Given the description of an element on the screen output the (x, y) to click on. 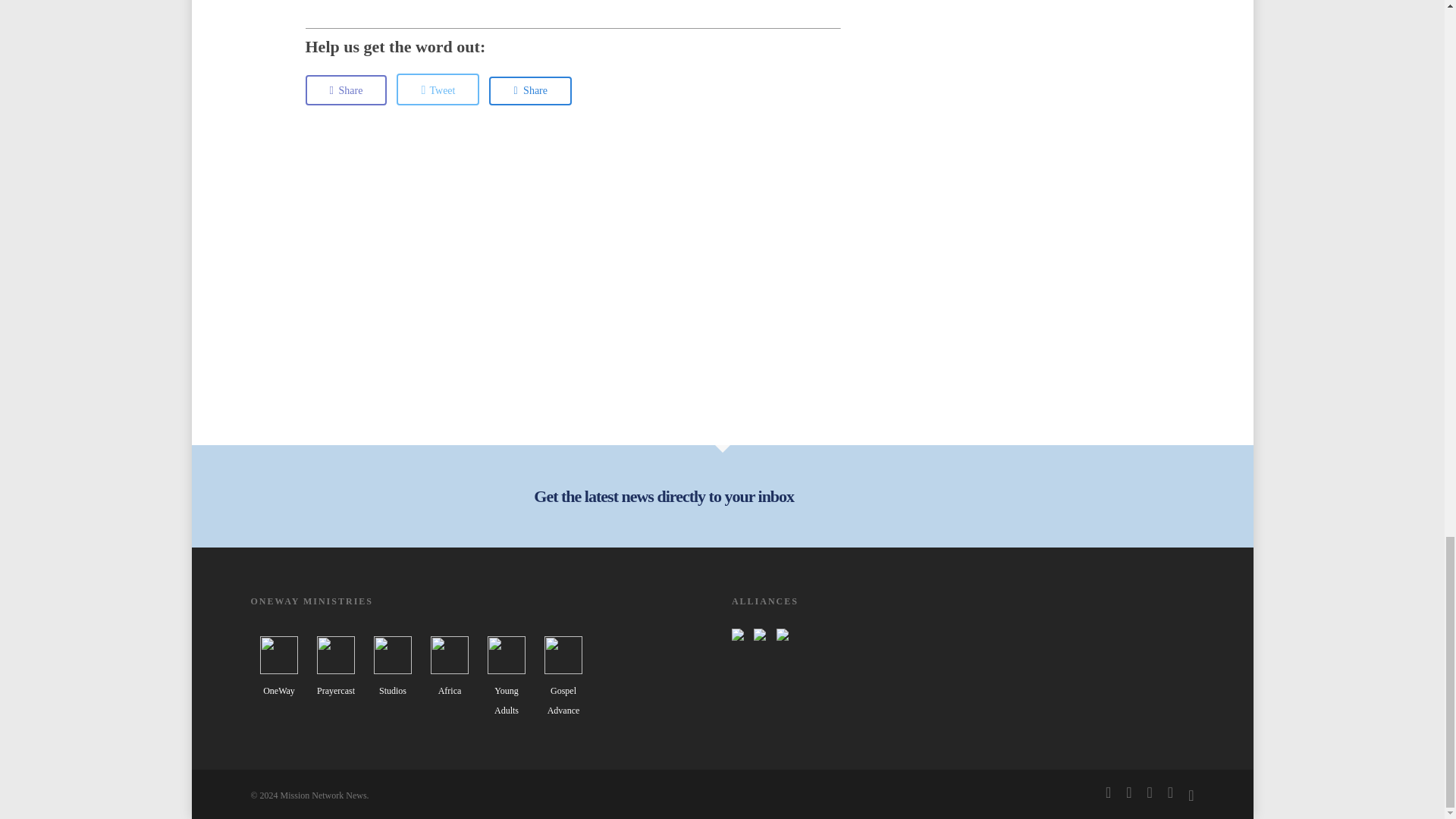
Share this (530, 90)
Tweet this (437, 89)
Share this (345, 90)
